Given the description of an element on the screen output the (x, y) to click on. 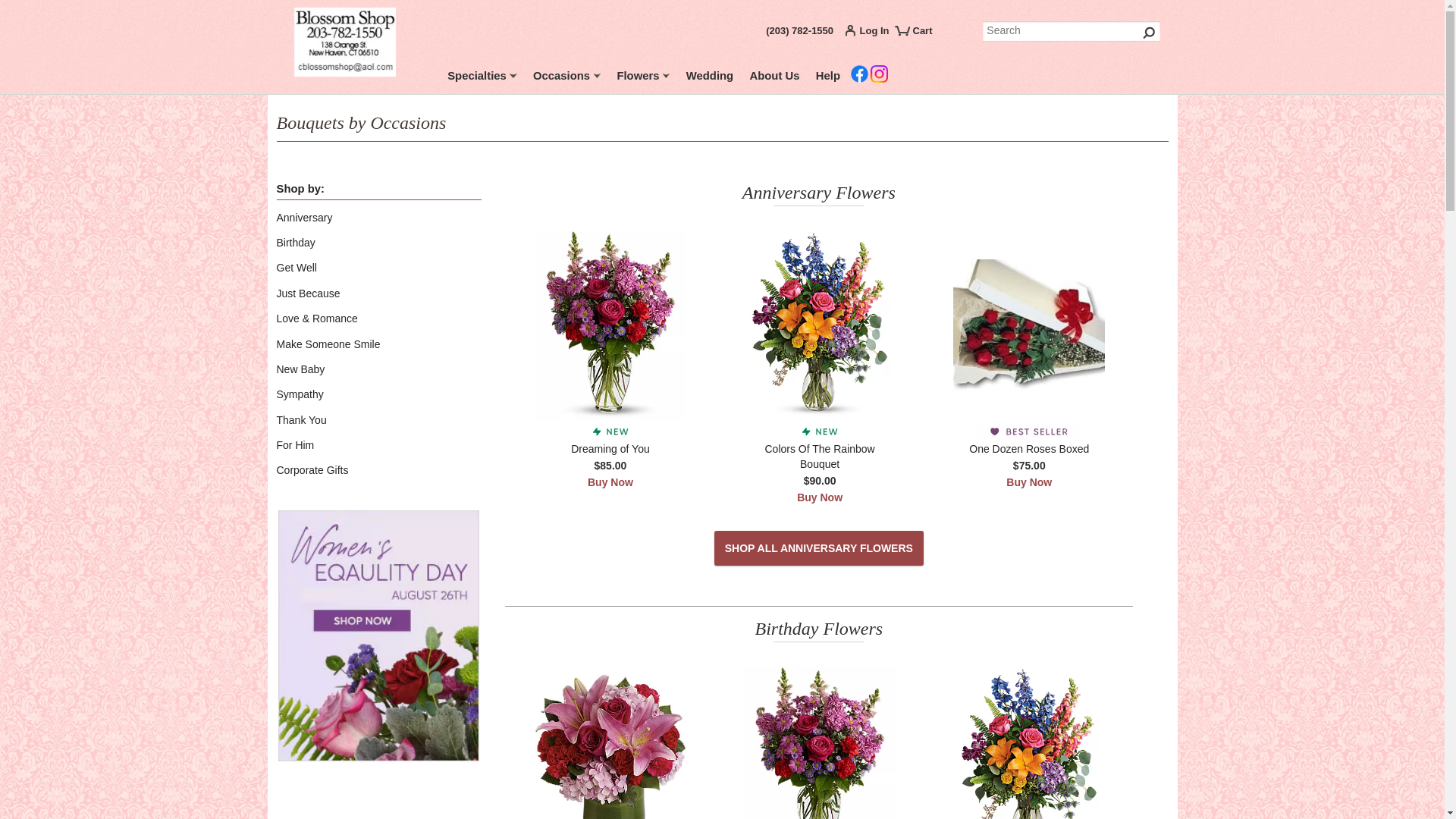
log In (870, 33)
Log In (870, 33)
Go (1149, 32)
Cart (919, 36)
Specialties (482, 78)
Occasions (567, 78)
Flowers (643, 78)
Search (1071, 31)
